Given the description of an element on the screen output the (x, y) to click on. 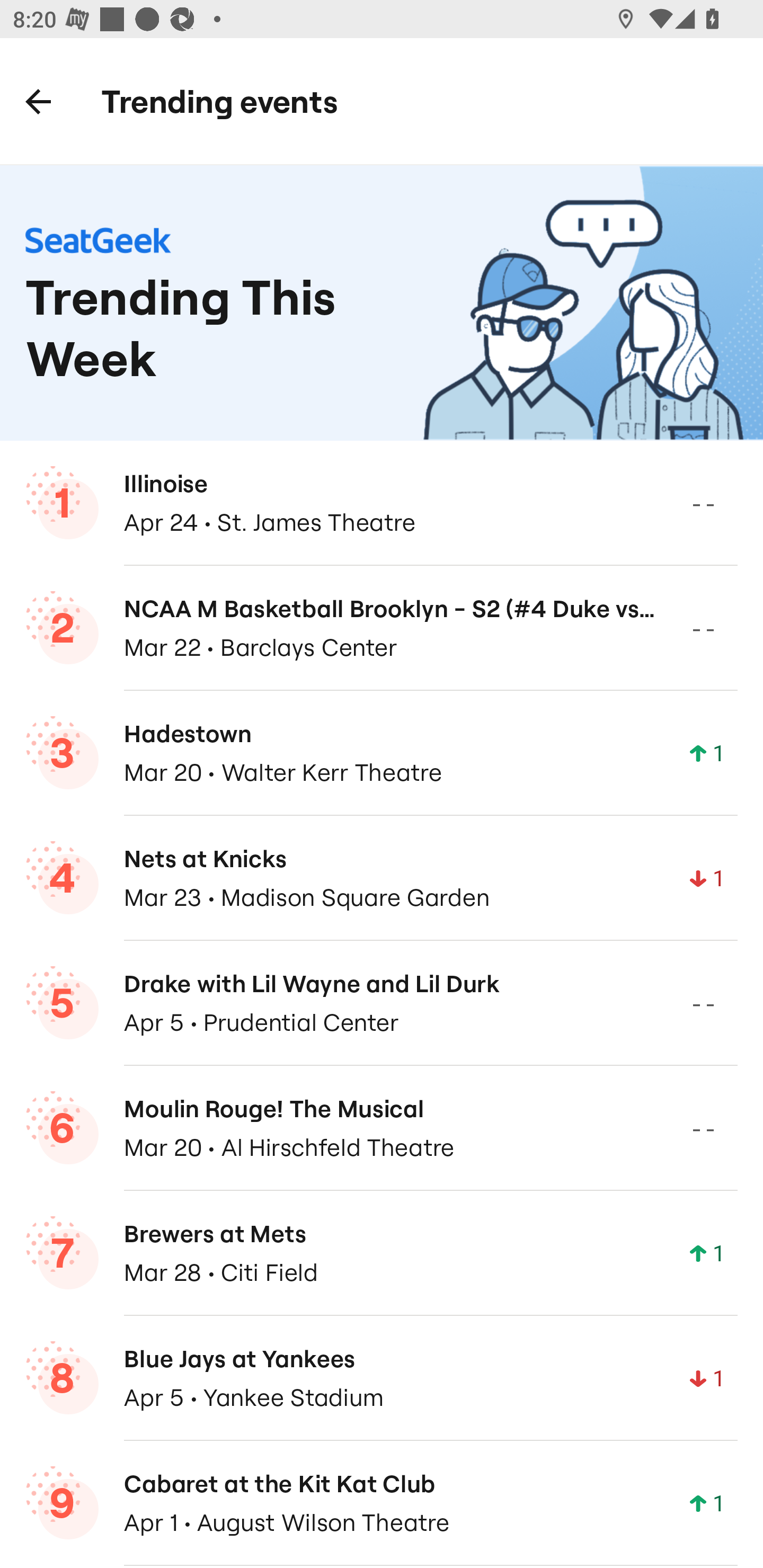
Back (38, 100)
